Given the description of an element on the screen output the (x, y) to click on. 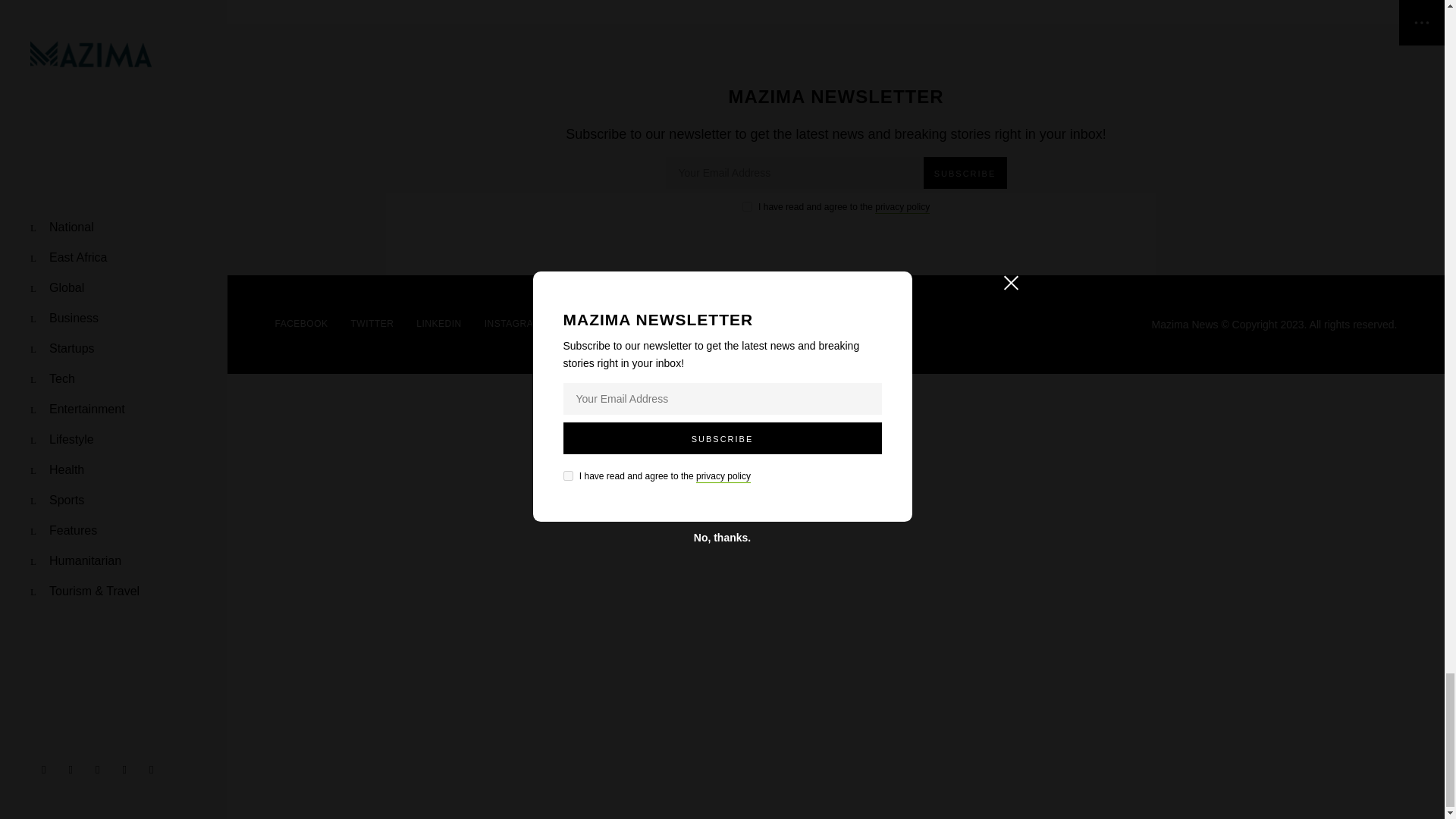
1 (747, 206)
Subscribe (965, 173)
